Given the description of an element on the screen output the (x, y) to click on. 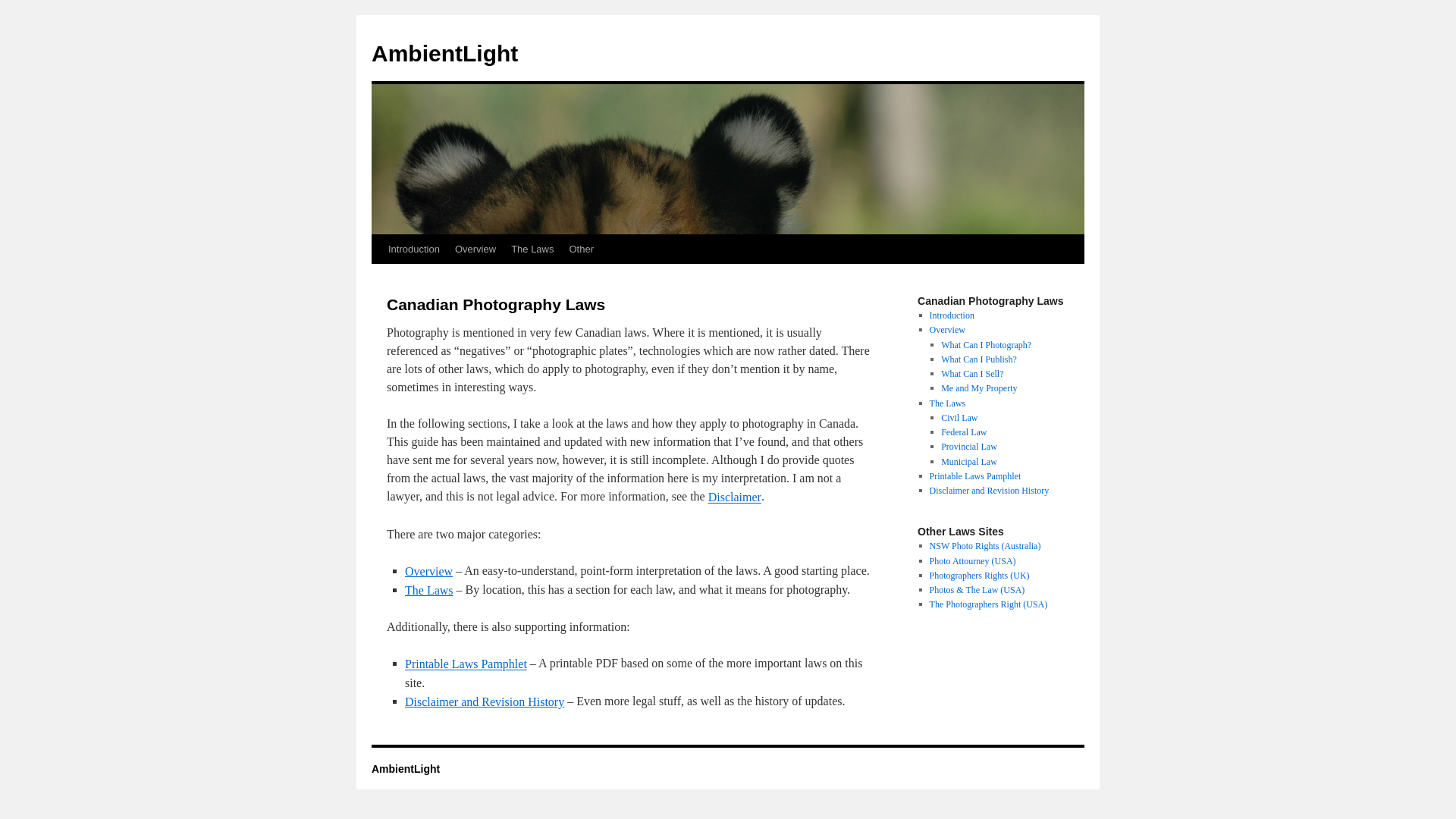
What Can I Photograph? Element type: text (986, 344)
Photo Attourney (USA) Element type: text (972, 560)
Photos & The Law (USA) Element type: text (977, 589)
Civil Law Element type: text (959, 417)
The Laws Element type: text (532, 249)
NSW Photo Rights (Australia) Element type: text (985, 546)
Me and My Property Element type: text (978, 388)
Other Element type: text (581, 249)
Overview Element type: text (428, 570)
Disclaimer and Revision History Element type: text (484, 701)
Disclaimer and Revision History Element type: text (989, 490)
Photographers Rights (UK) Element type: text (979, 575)
Printable Laws Pamphlet Element type: text (975, 475)
What Can I Publish? Element type: text (978, 359)
The Laws Element type: text (428, 589)
Disclaimer Element type: text (734, 497)
AmbientLight Element type: text (444, 52)
The Photographers Right (USA) Element type: text (988, 604)
AmbientLight Element type: text (405, 768)
Municipal Law Element type: text (969, 461)
Skip to content Element type: text (378, 278)
What Can I Sell? Element type: text (972, 373)
Provincial Law Element type: text (969, 447)
Overview Element type: text (947, 330)
Printable Laws Pamphlet Element type: text (465, 664)
The Laws Element type: text (947, 403)
Introduction Element type: text (951, 315)
Overview Element type: text (475, 249)
Federal Law Element type: text (963, 431)
Introduction Element type: text (413, 249)
